Given the description of an element on the screen output the (x, y) to click on. 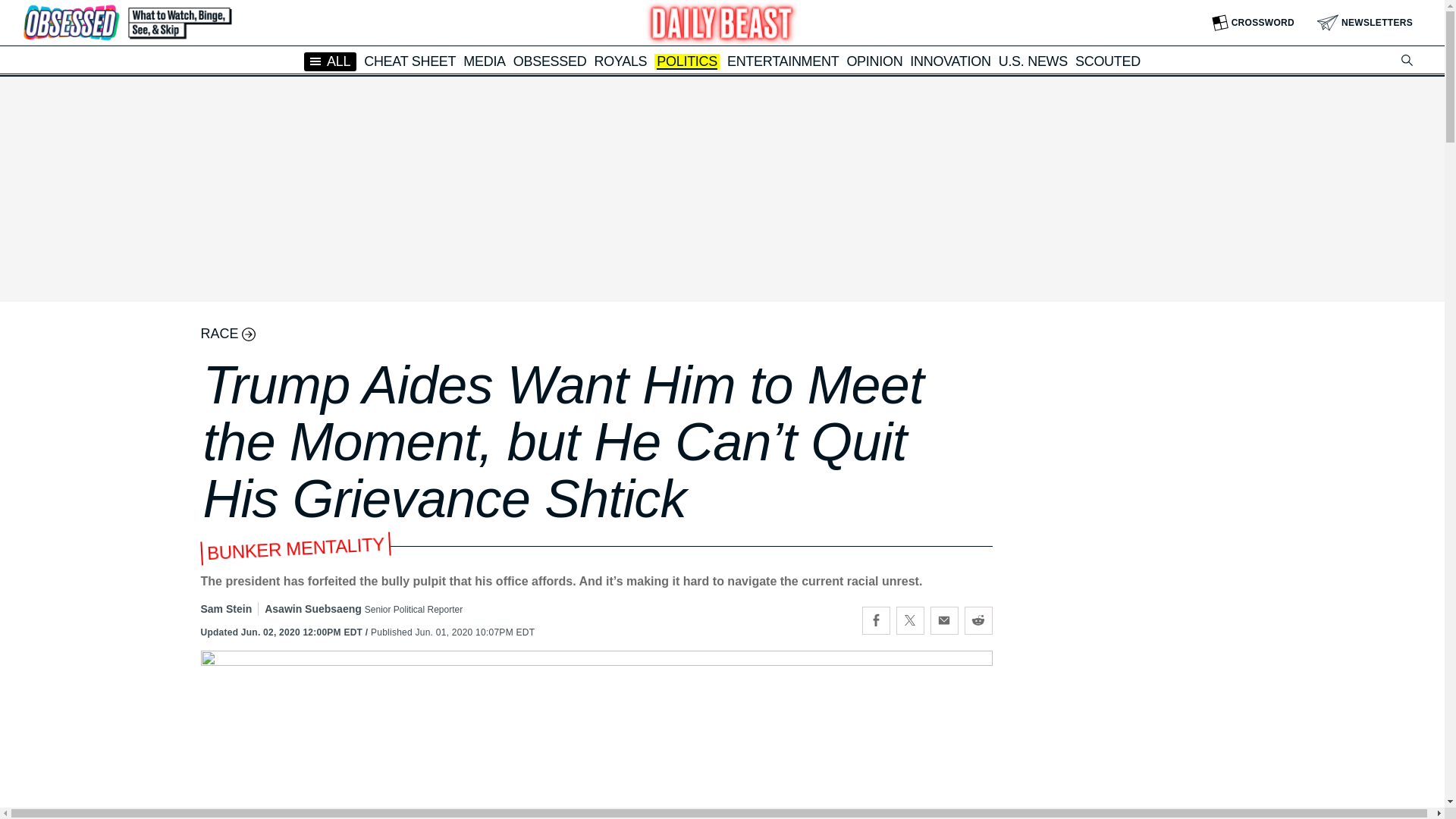
ALL (330, 60)
INNOVATION (950, 60)
SCOUTED (1107, 60)
U.S. NEWS (1032, 60)
ROYALS (620, 60)
CHEAT SHEET (409, 60)
ENTERTAINMENT (782, 60)
OBSESSED (549, 60)
MEDIA (484, 60)
NEWSLETTERS (1364, 22)
